Given the description of an element on the screen output the (x, y) to click on. 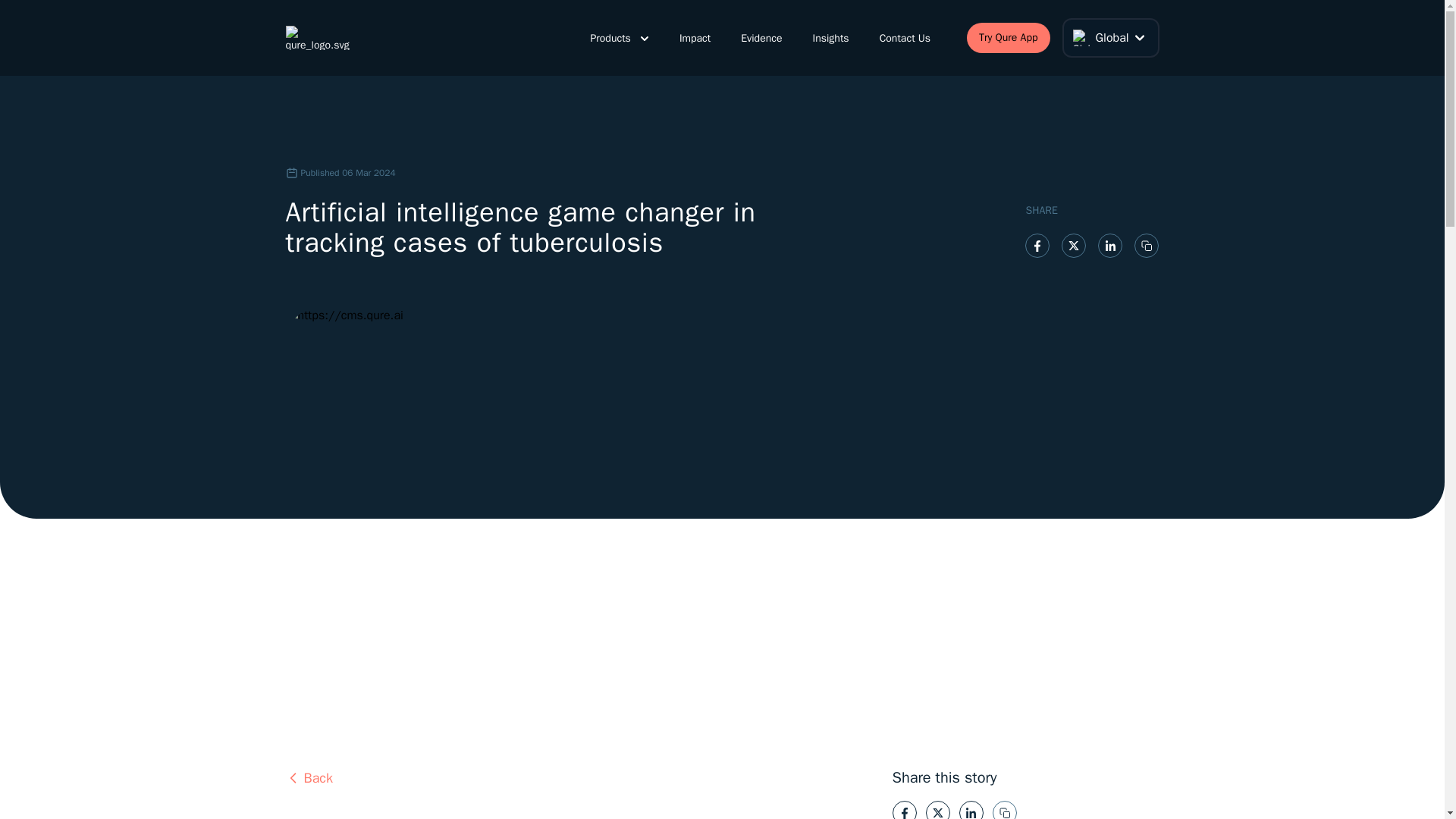
Products (618, 38)
Contact Us (904, 38)
Back (570, 777)
Evidence (761, 38)
Impact (694, 38)
Insights (830, 38)
Global (1109, 37)
Try Qure App (1007, 37)
